Given the description of an element on the screen output the (x, y) to click on. 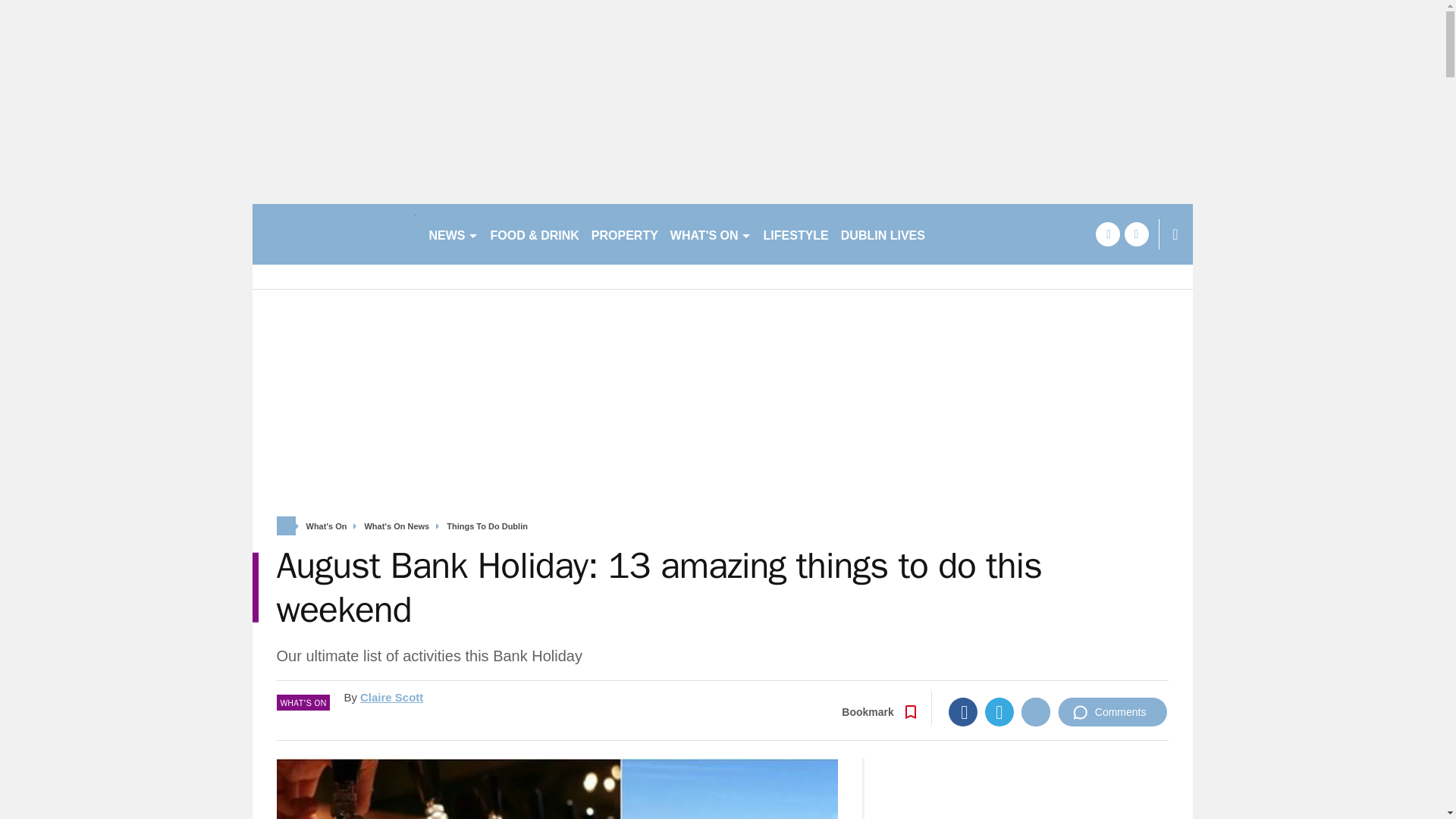
Facebook (962, 711)
Twitter (999, 711)
facebook (1106, 233)
twitter (1136, 233)
LIFESTYLE (795, 233)
DUBLIN LIVES (882, 233)
dublinlive (332, 233)
WHAT'S ON (710, 233)
SOCCER (962, 233)
PROPERTY (624, 233)
